Given the description of an element on the screen output the (x, y) to click on. 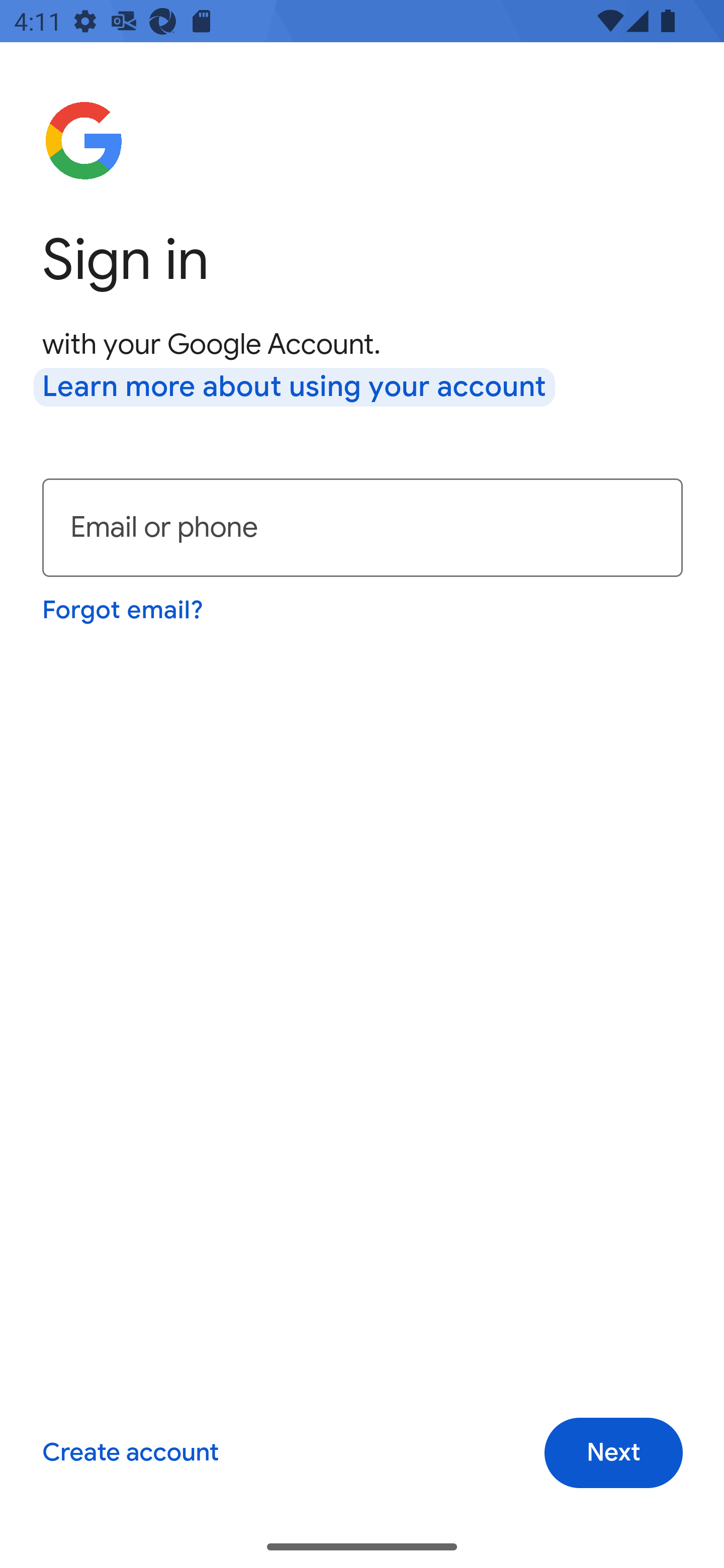
Learn more about using your account (294, 388)
Forgot email? (123, 609)
Next (613, 1453)
Create account (129, 1453)
